Given the description of an element on the screen output the (x, y) to click on. 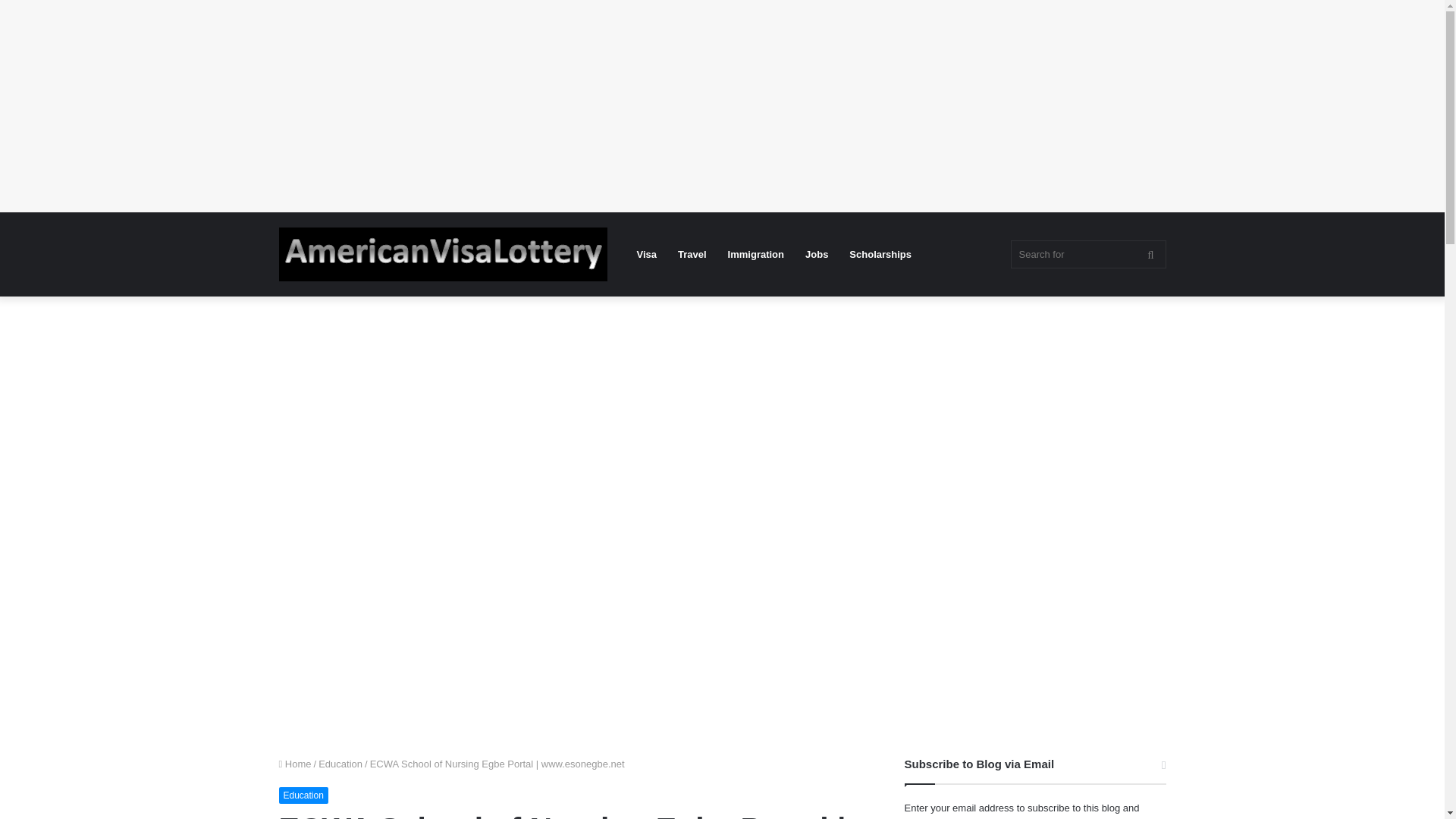
Scholarships (879, 254)
Search for (1088, 254)
Education (340, 763)
Immigration (755, 254)
American Visa Lottery (443, 254)
Home (295, 763)
Education (304, 795)
